Given the description of an element on the screen output the (x, y) to click on. 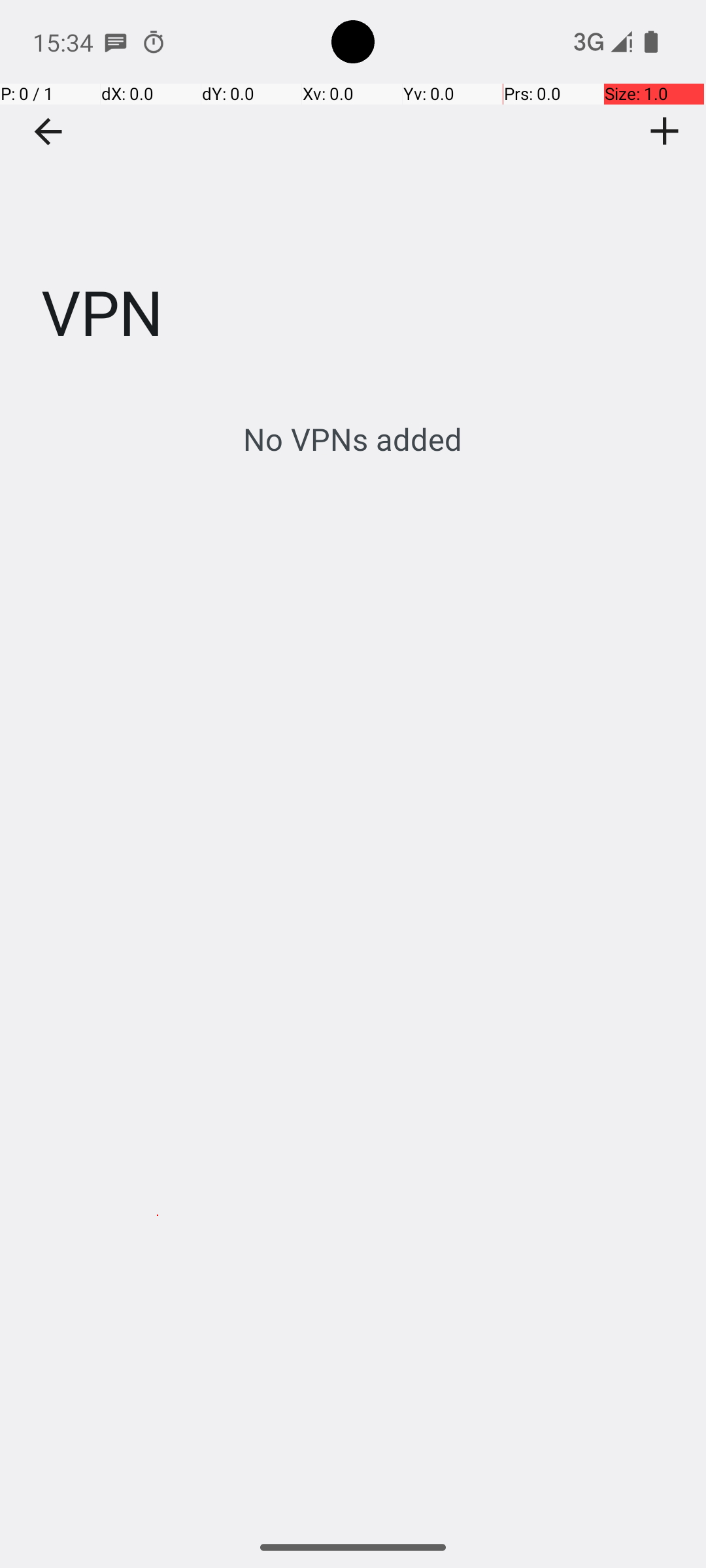
No VPNs added Element type: android.widget.TextView (352, 438)
Add VPN profile Element type: android.widget.TextView (664, 131)
